Given the description of an element on the screen output the (x, y) to click on. 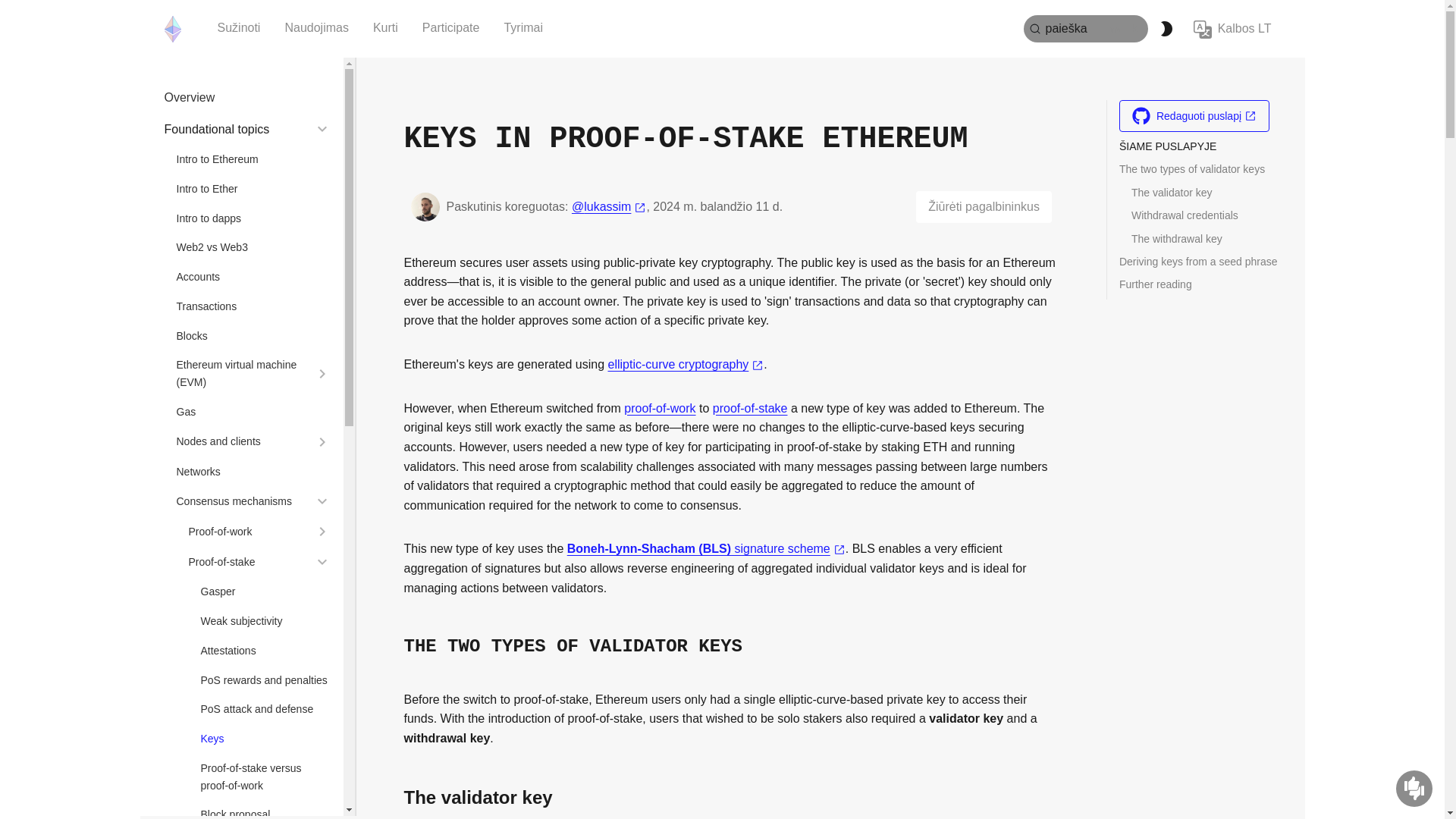
Gasper (265, 591)
Kurti (385, 28)
Blocks (253, 335)
Weak subjectivity (265, 620)
Intro to Ether (253, 189)
Participate (451, 28)
Naudojimas (315, 28)
Kalbos LT (1233, 29)
Intro to dapps (253, 218)
Tyrimai (523, 28)
Accounts (253, 276)
Intro to Ethereum (253, 159)
Proof-of-work (246, 531)
Consensus mechanisms (240, 501)
Nodes and clients (240, 441)
